Given the description of an element on the screen output the (x, y) to click on. 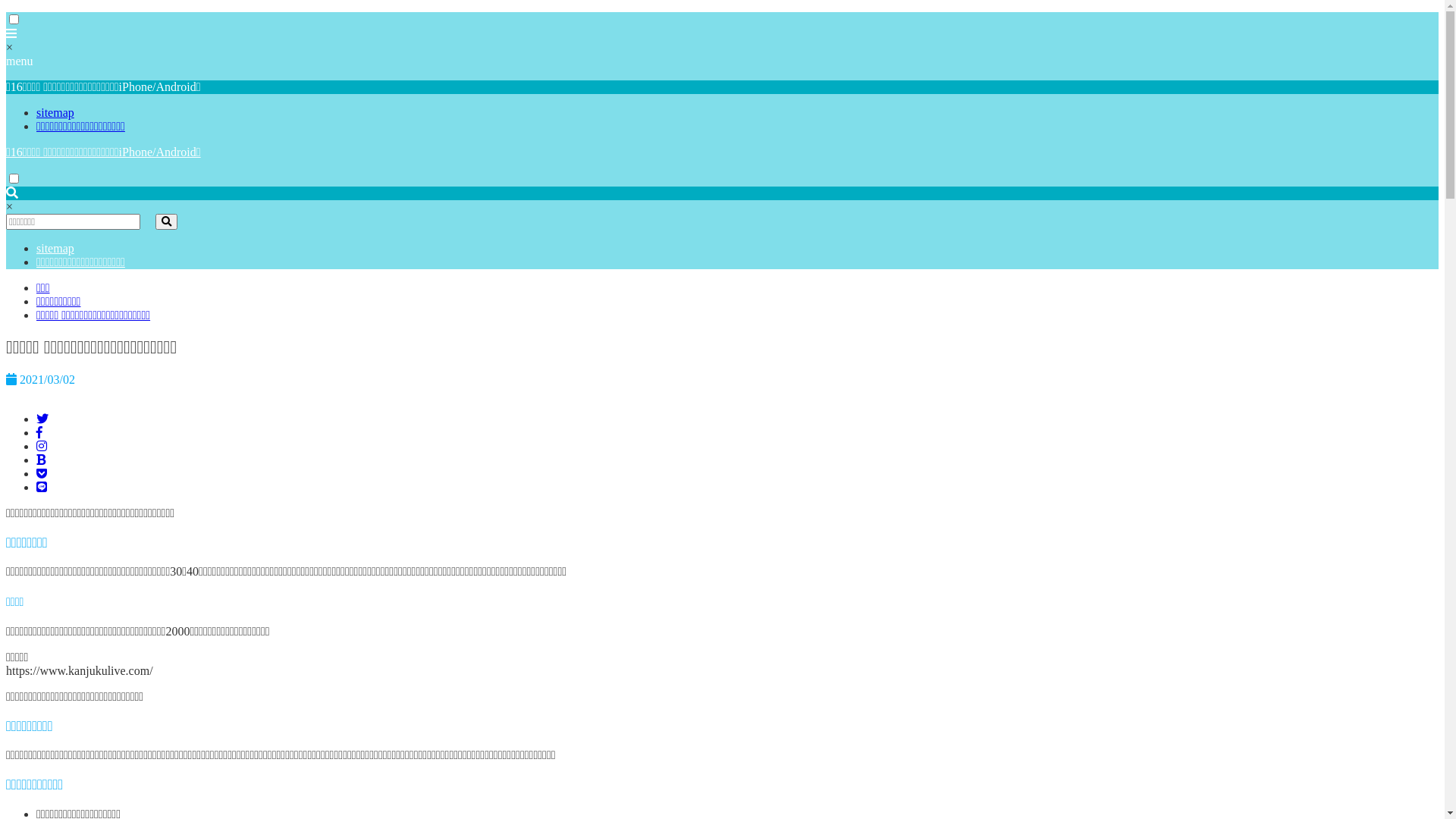
Search Element type: text (166, 221)
sitemap Element type: text (55, 247)
sitemap Element type: text (55, 112)
